Given the description of an element on the screen output the (x, y) to click on. 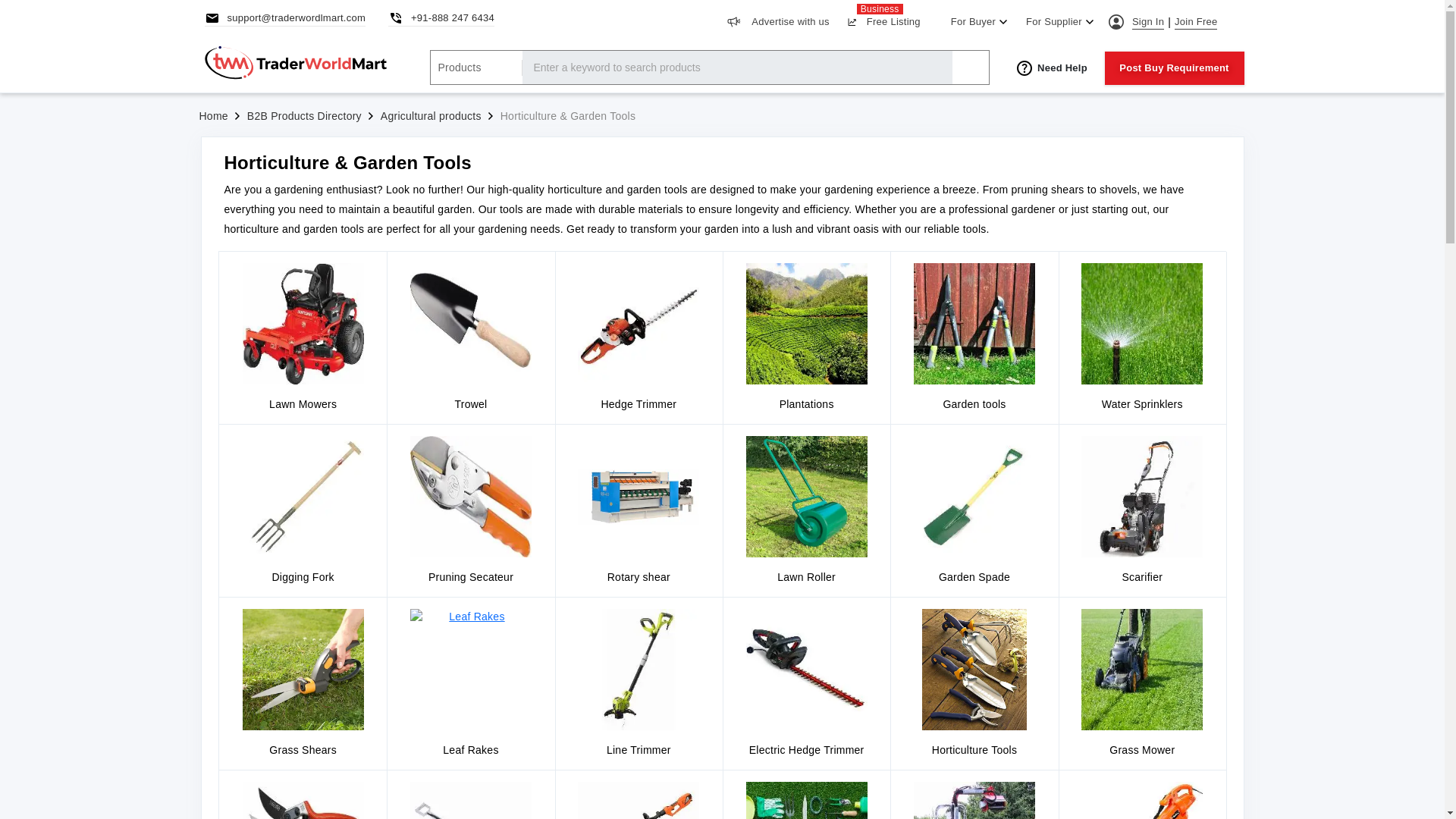
Advertise with us (775, 21)
Home (212, 115)
Garden tools (880, 22)
Hedge Trimmer (974, 323)
Join Free (638, 323)
Digging Fork (1195, 22)
Agricultural products (303, 511)
Horticulture Tools (430, 115)
Digging Fork (974, 669)
Trowel (303, 496)
Lawn Mowers (470, 323)
Water Sprinklers (303, 323)
Line Trimmer (1142, 338)
TraderWorldmart (638, 669)
